Given the description of an element on the screen output the (x, y) to click on. 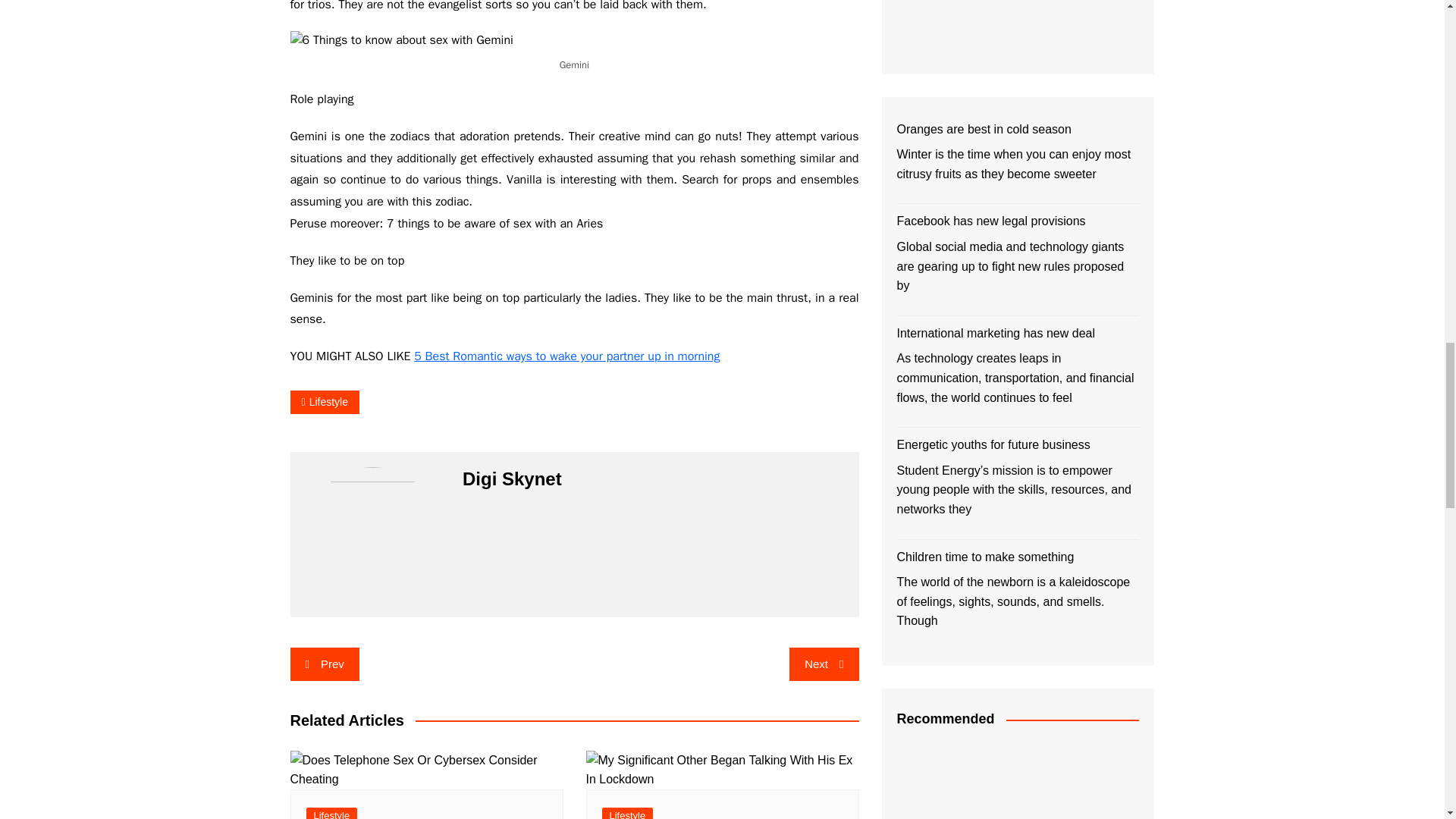
Lifestyle (323, 402)
6 Things to know about sex with Gemini (400, 40)
Does Telephone Sex Or Cybersex Consider Cheating (425, 770)
Prev (323, 663)
My Significant Other Began Talking With His Ex In Lockdown (722, 770)
5 Best Romantic ways to wake your partner up in morning (566, 355)
Next (824, 663)
